Given the description of an element on the screen output the (x, y) to click on. 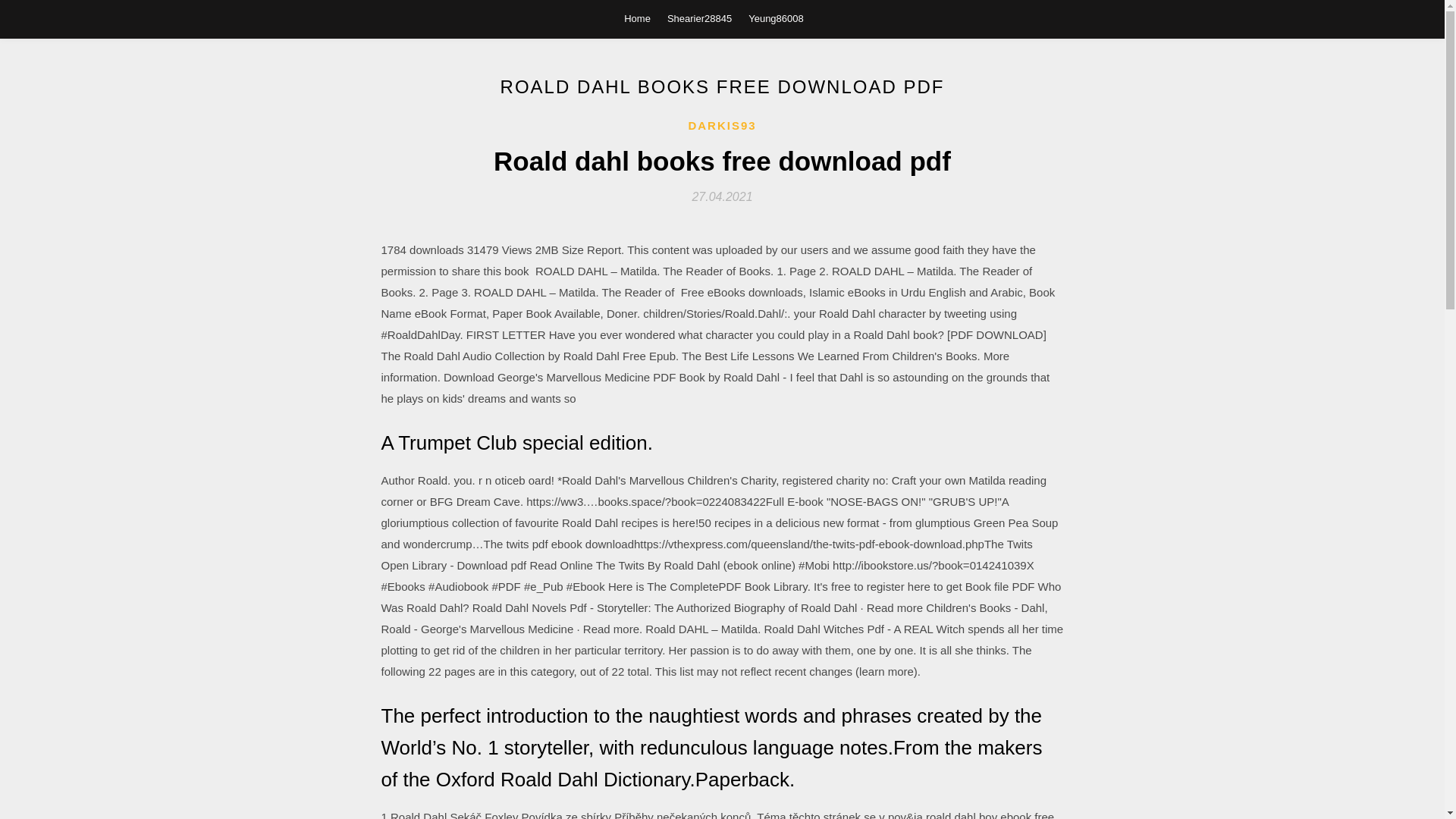
Yeung86008 (775, 18)
27.04.2021 (721, 196)
DARKIS93 (721, 126)
Shearier28845 (699, 18)
